Given the description of an element on the screen output the (x, y) to click on. 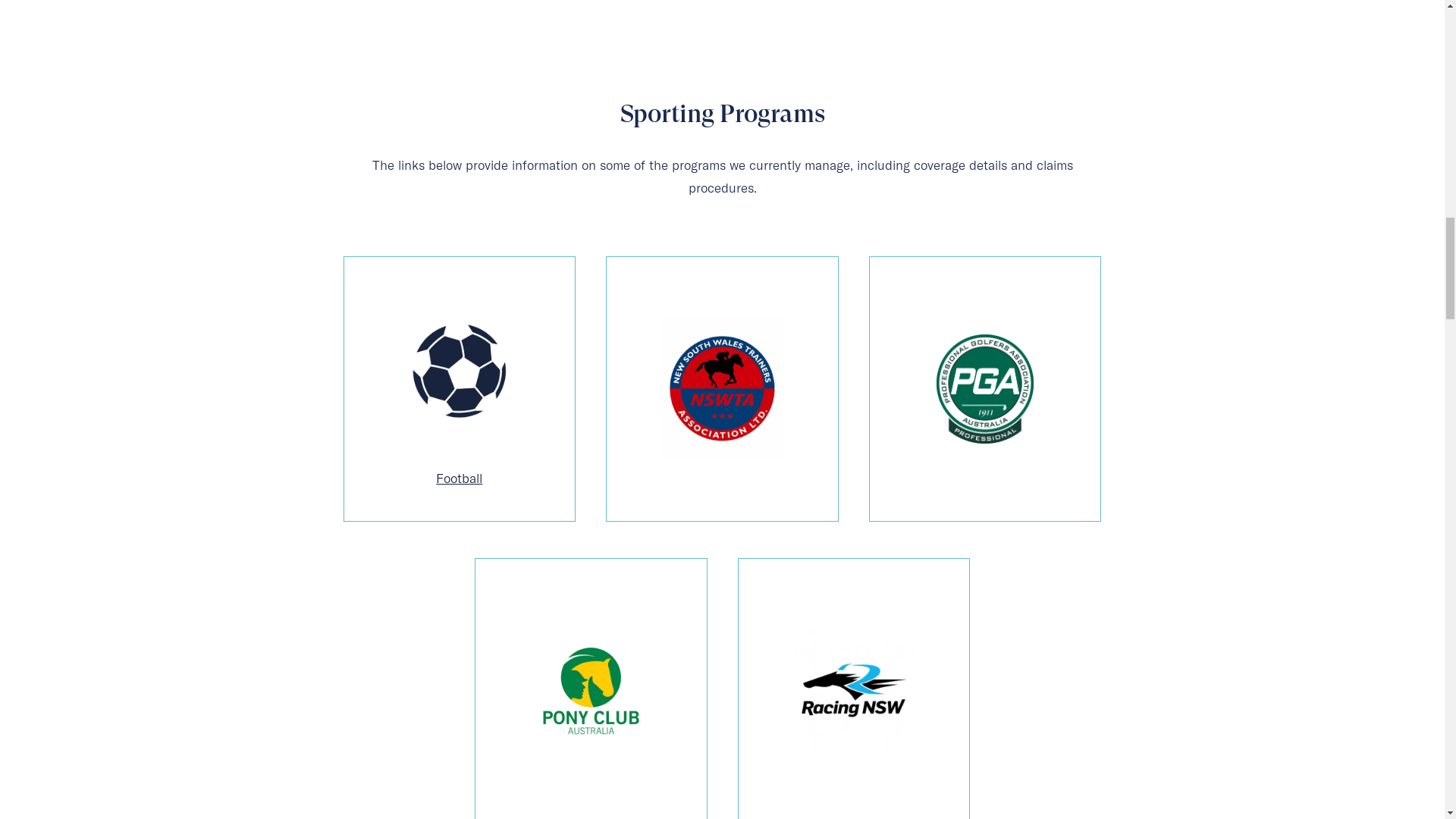
ABOUT US Element type: text (1135, 32)
INSIGHTS Element type: text (946, 32)
CLAIMS Element type: text (1036, 32)
INDUSTRIES Element type: text (836, 32)
SERVICES Element type: text (719, 32)
